Given the description of an element on the screen output the (x, y) to click on. 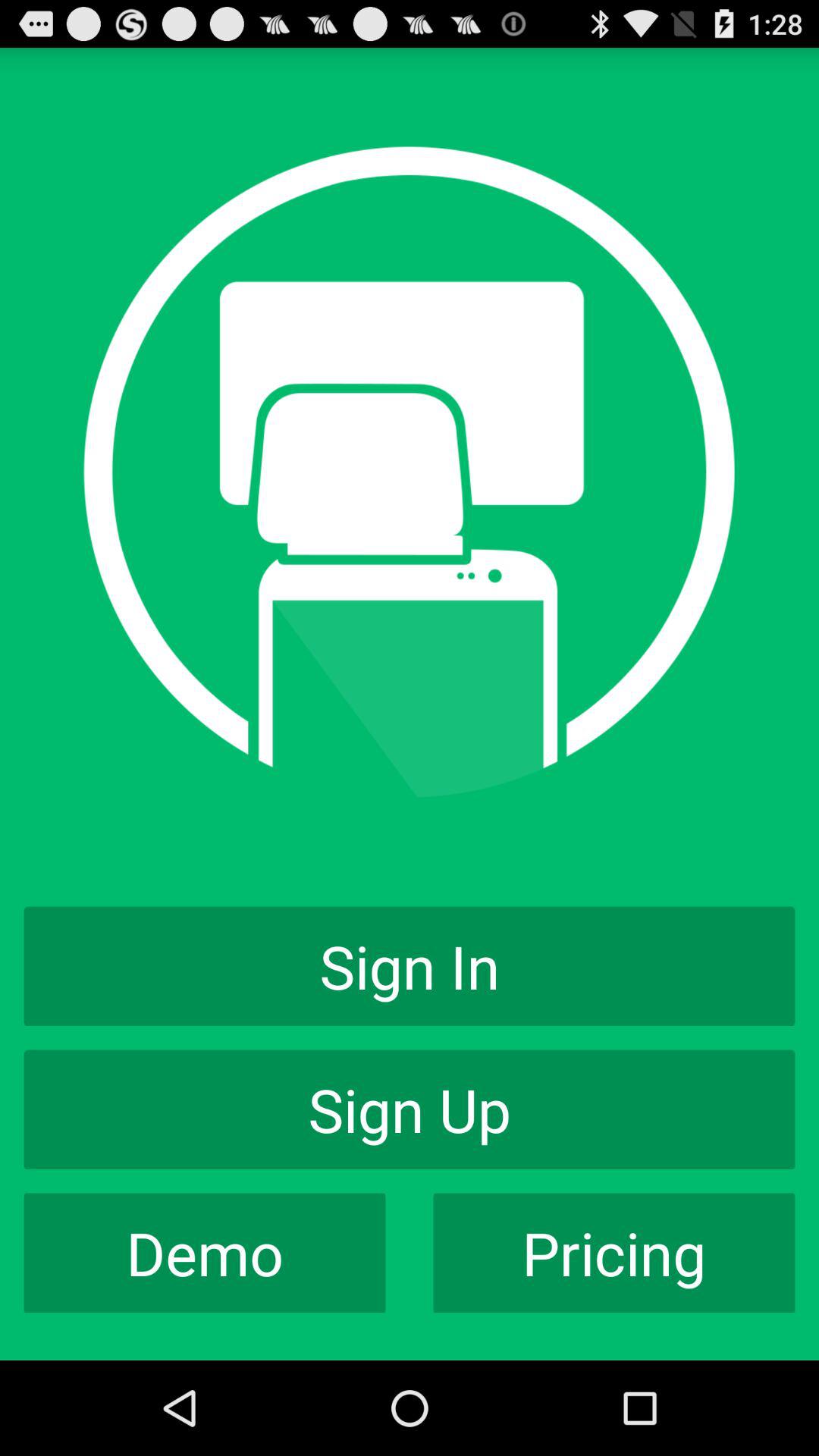
swipe until the demo (204, 1252)
